Given the description of an element on the screen output the (x, y) to click on. 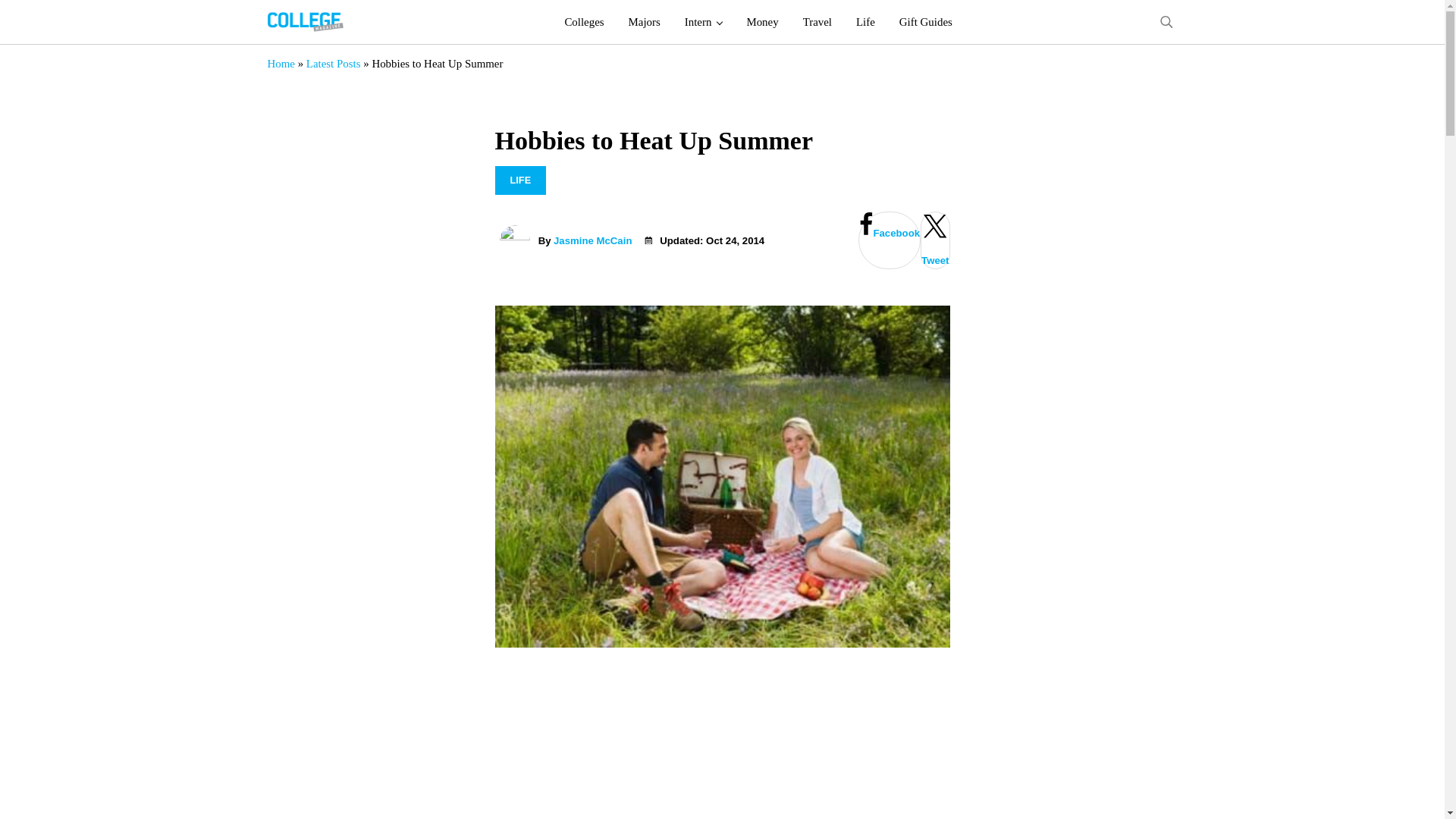
Jasmine McCain (592, 240)
Life (865, 21)
Colleges (583, 21)
Share on Facebook (889, 240)
Travel (817, 21)
Home (280, 63)
Money (761, 21)
Gift Guides (924, 21)
LIFE (520, 180)
Intern (703, 21)
Majors (643, 21)
Latest Posts (333, 63)
Facebook (889, 240)
